Given the description of an element on the screen output the (x, y) to click on. 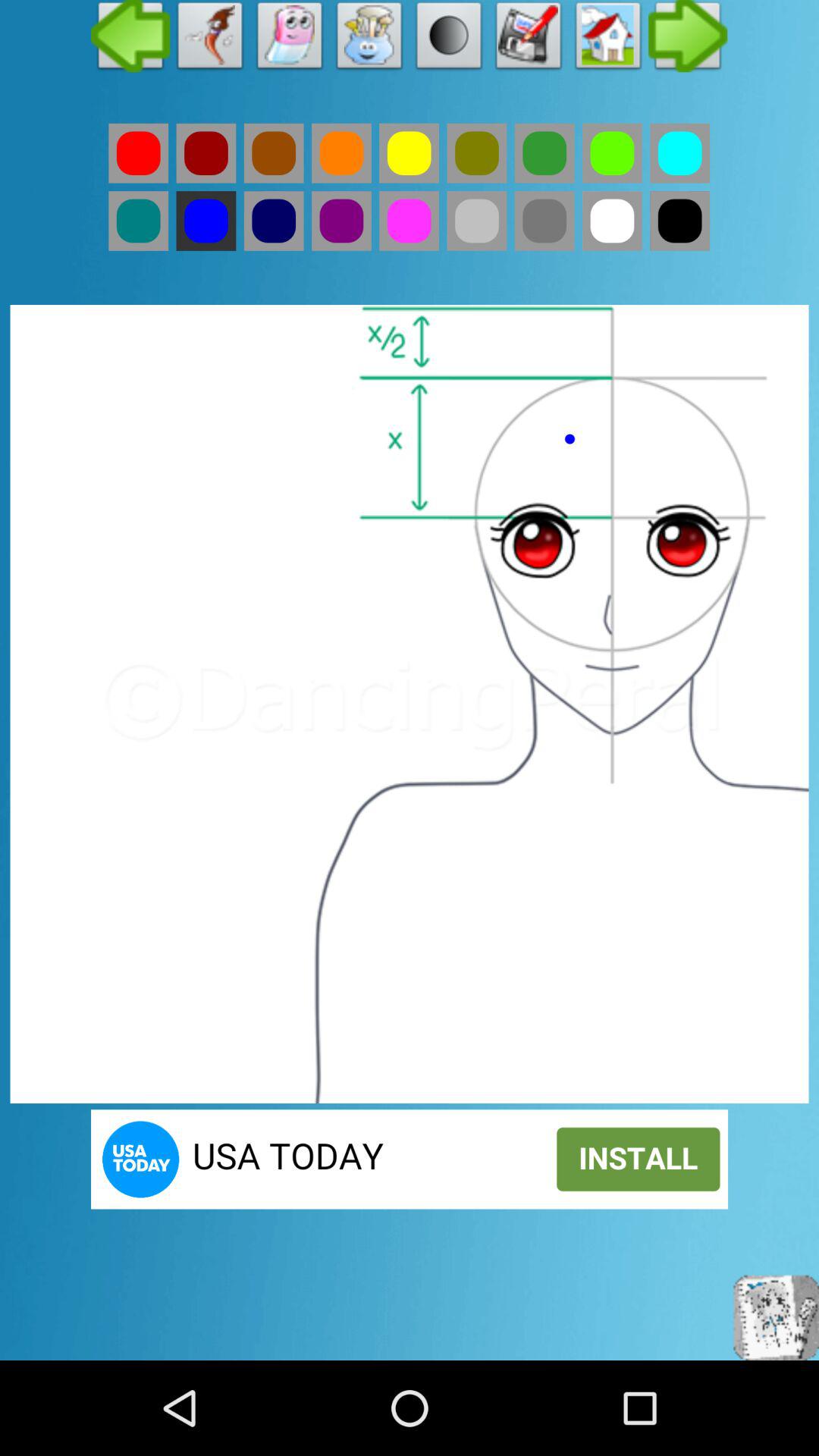
return home (608, 39)
